Given the description of an element on the screen output the (x, y) to click on. 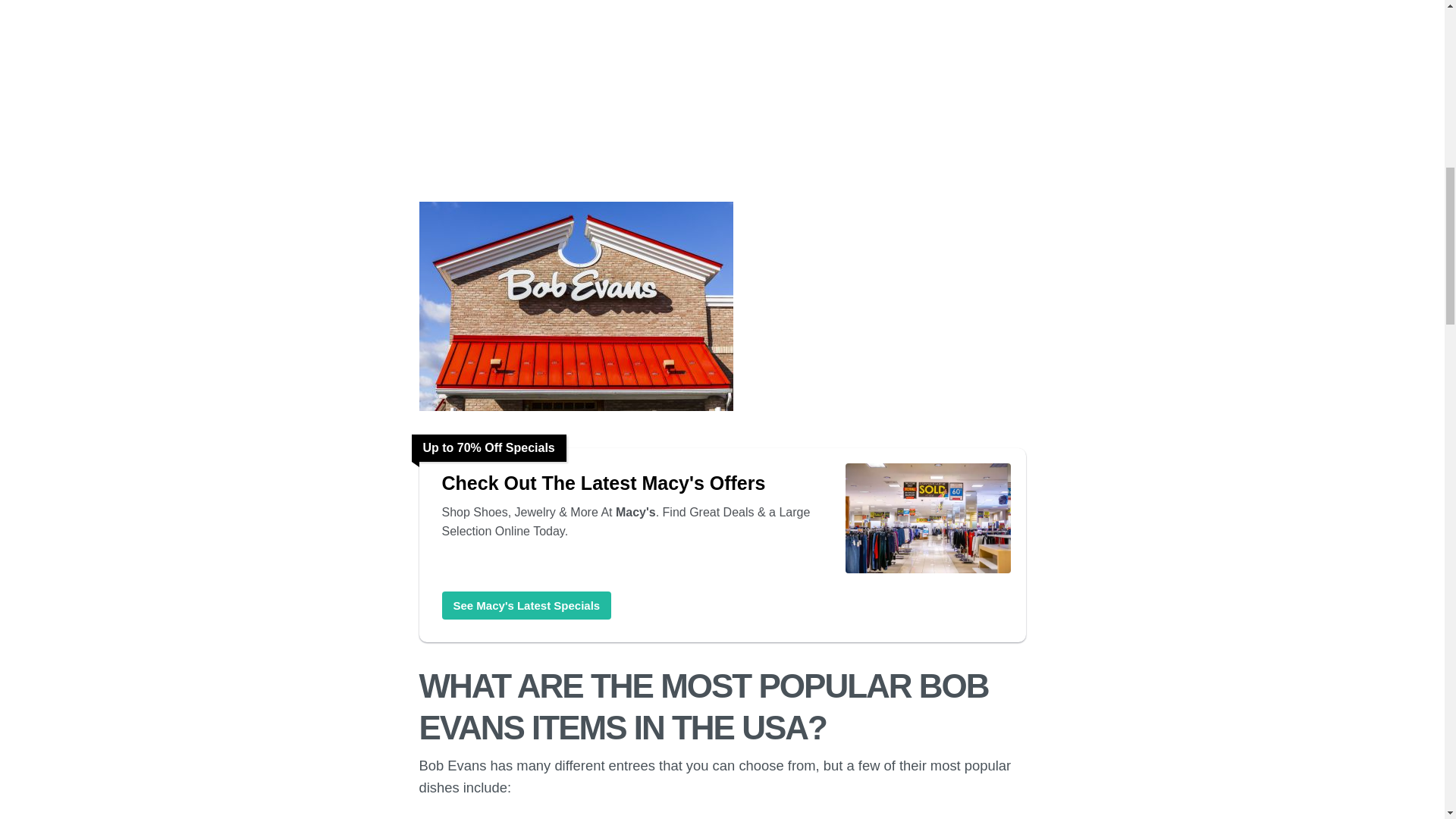
Check Out The Latest Macy's Offers (927, 571)
Check Out The Latest Macy's Offers (526, 605)
See Macy's Latest Specials (526, 605)
Check Out The Latest Macy's Offers (635, 482)
Check Out The Latest Macy's Offers (635, 482)
